Given the description of an element on the screen output the (x, y) to click on. 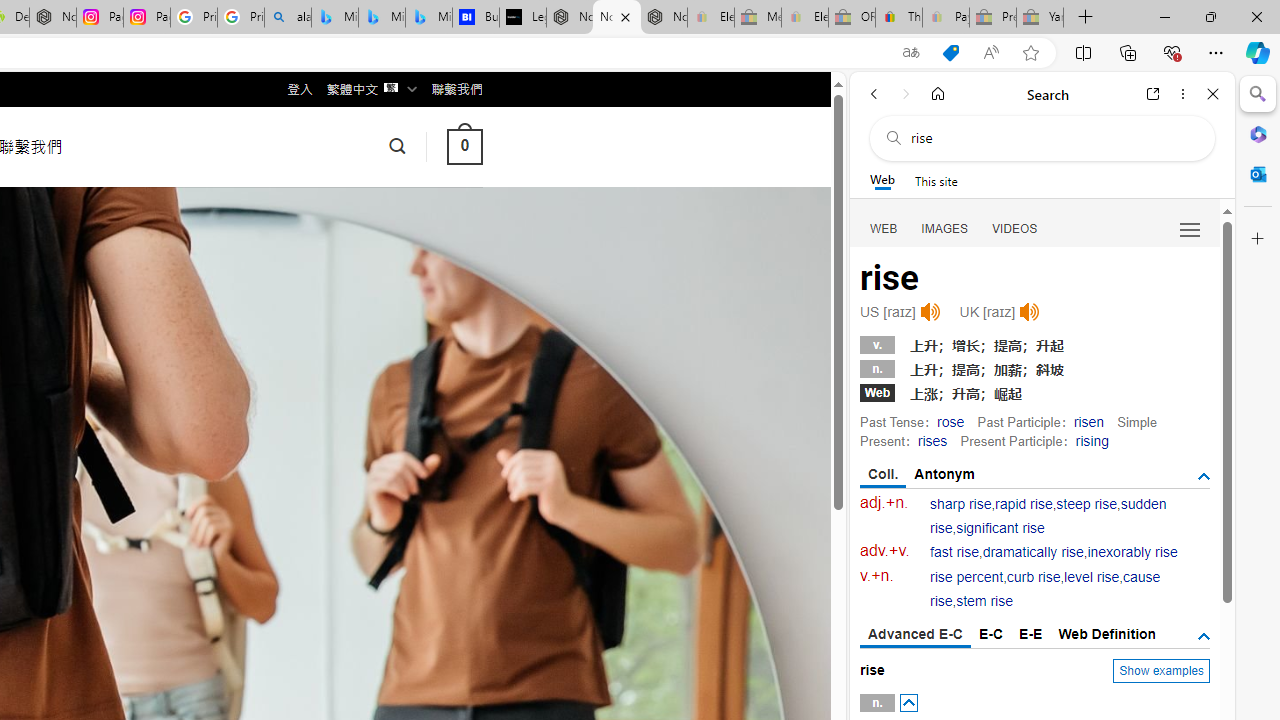
inexorably rise (1131, 552)
AutomationID: posbtn_0 (908, 703)
WEB (884, 228)
Press Room - eBay Inc. - Sleeping (993, 17)
curb rise (1033, 577)
Microsoft Bing Travel - Shangri-La Hotel Bangkok (428, 17)
rapid rise (1023, 503)
AutomationID: tgdef (1203, 636)
